Given the description of an element on the screen output the (x, y) to click on. 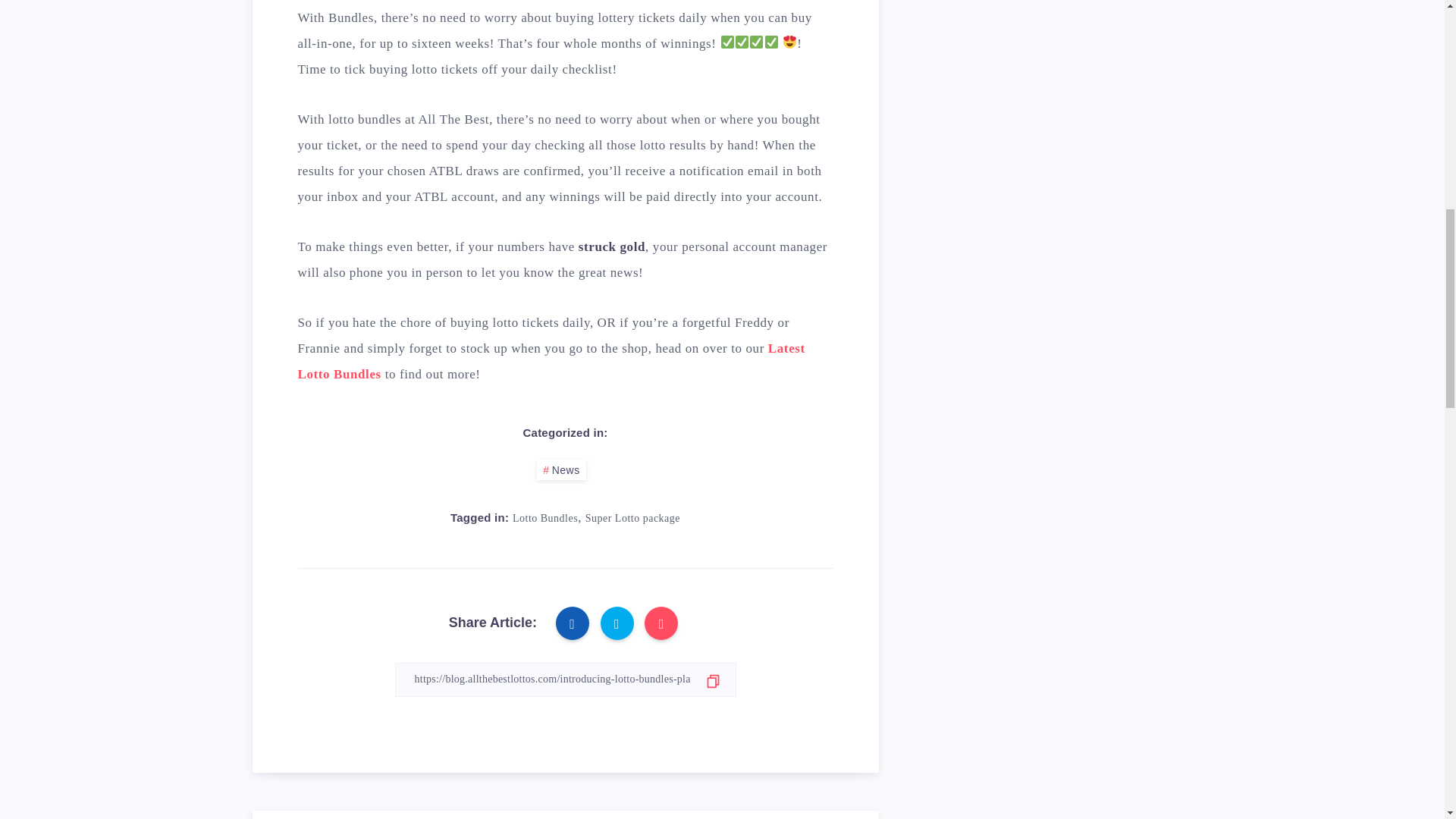
Super Lotto package (632, 518)
News (561, 469)
Lotto Bundles (545, 518)
Latest Lotto Bundles (551, 361)
